Given the description of an element on the screen output the (x, y) to click on. 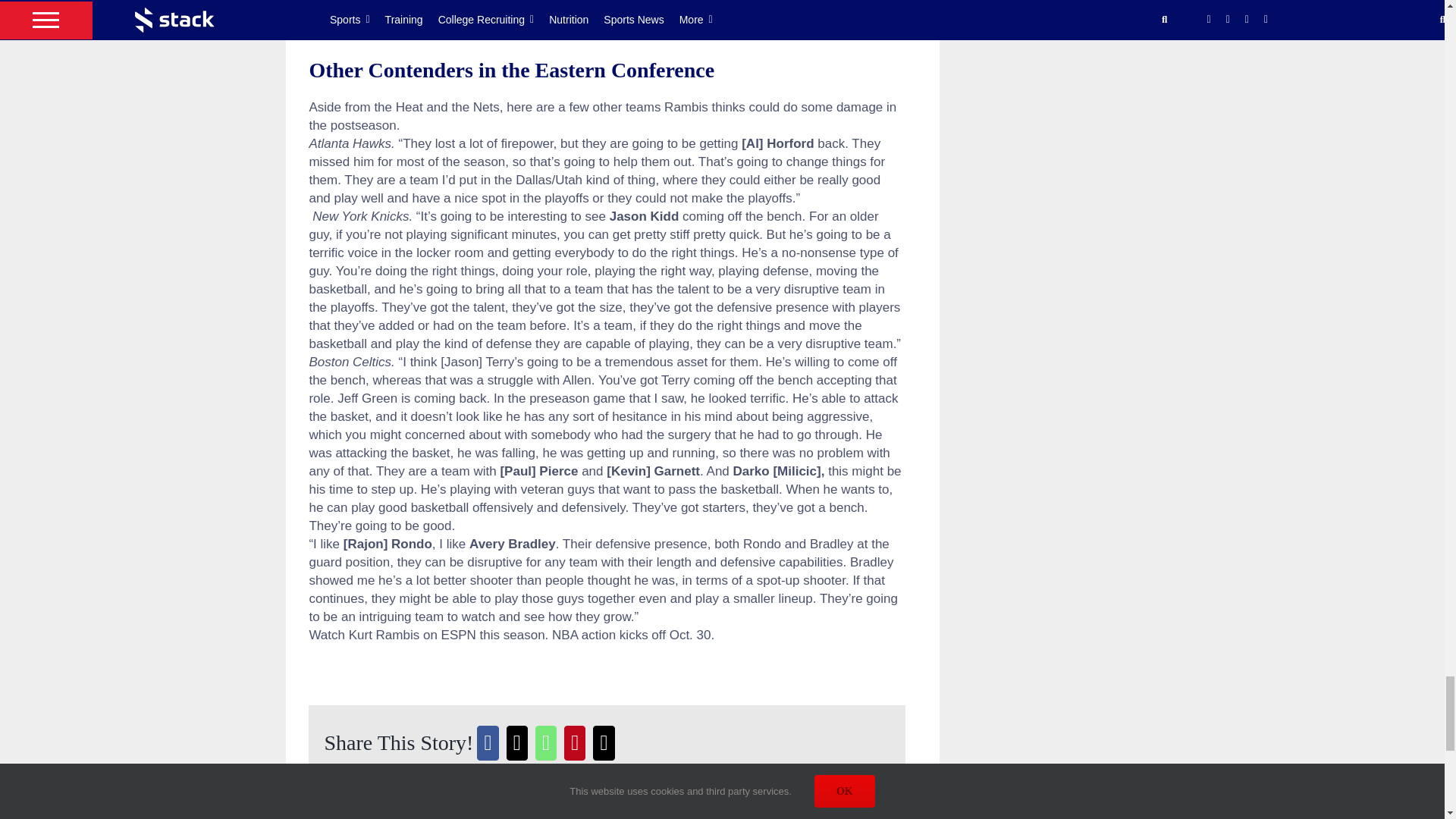
Brooklyn Nets - STACK (606, 4)
